Given the description of an element on the screen output the (x, y) to click on. 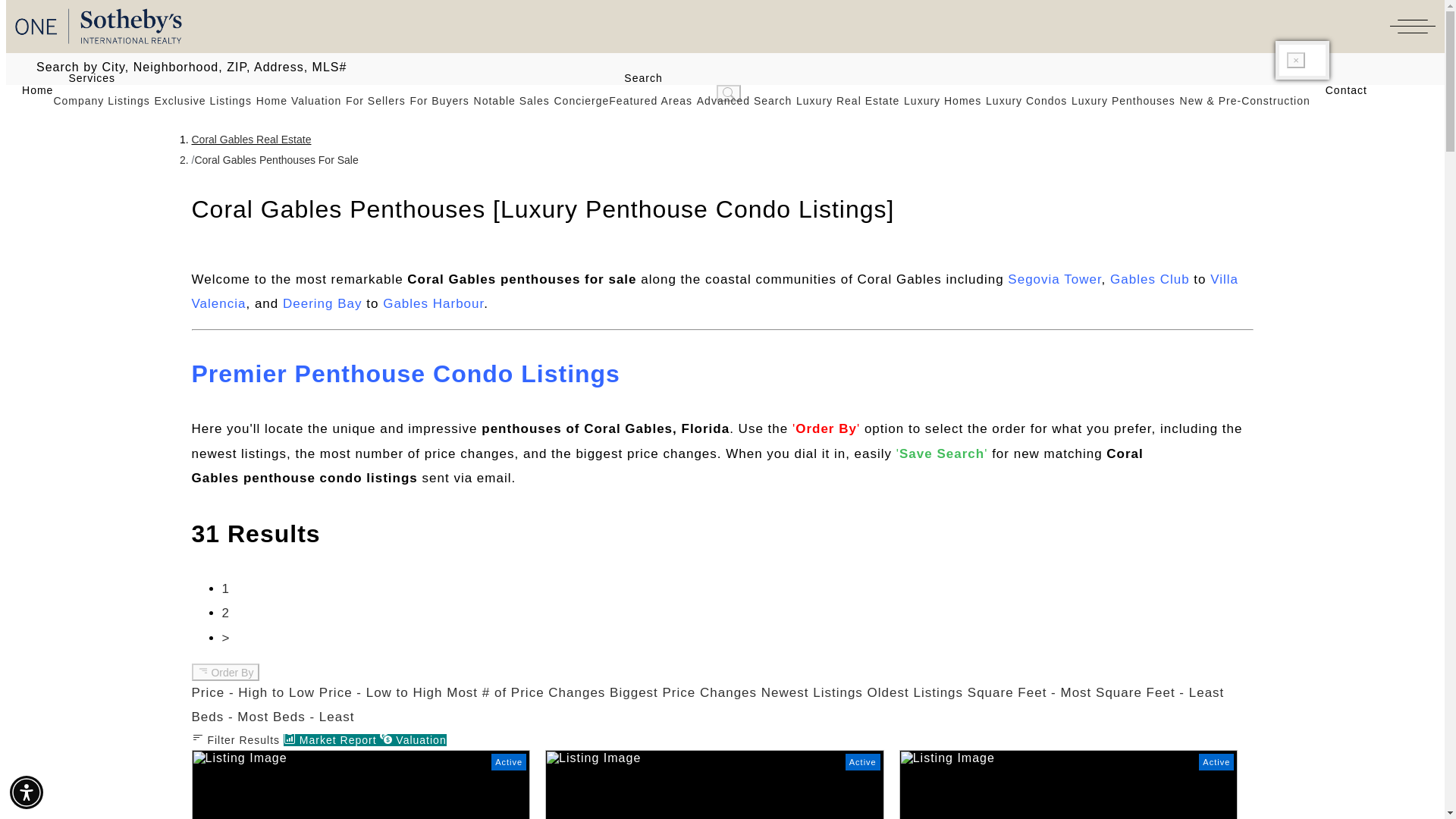
Deering Bay Coral Gables Condos for Sale (322, 303)
Search (635, 78)
For Sellers (376, 101)
Notable Sales (512, 101)
Luxury Penthouses (1122, 101)
Gables Harbour Coral Gables Condos for Sale (432, 303)
Concierge (580, 101)
Luxury Real Estate (847, 101)
Services (83, 78)
Luxury Condos (1026, 101)
Home (29, 90)
Advanced Search (744, 101)
Exclusive Listings (202, 101)
Home Valuation (299, 101)
Accessibility Menu (26, 792)
